Given the description of an element on the screen output the (x, y) to click on. 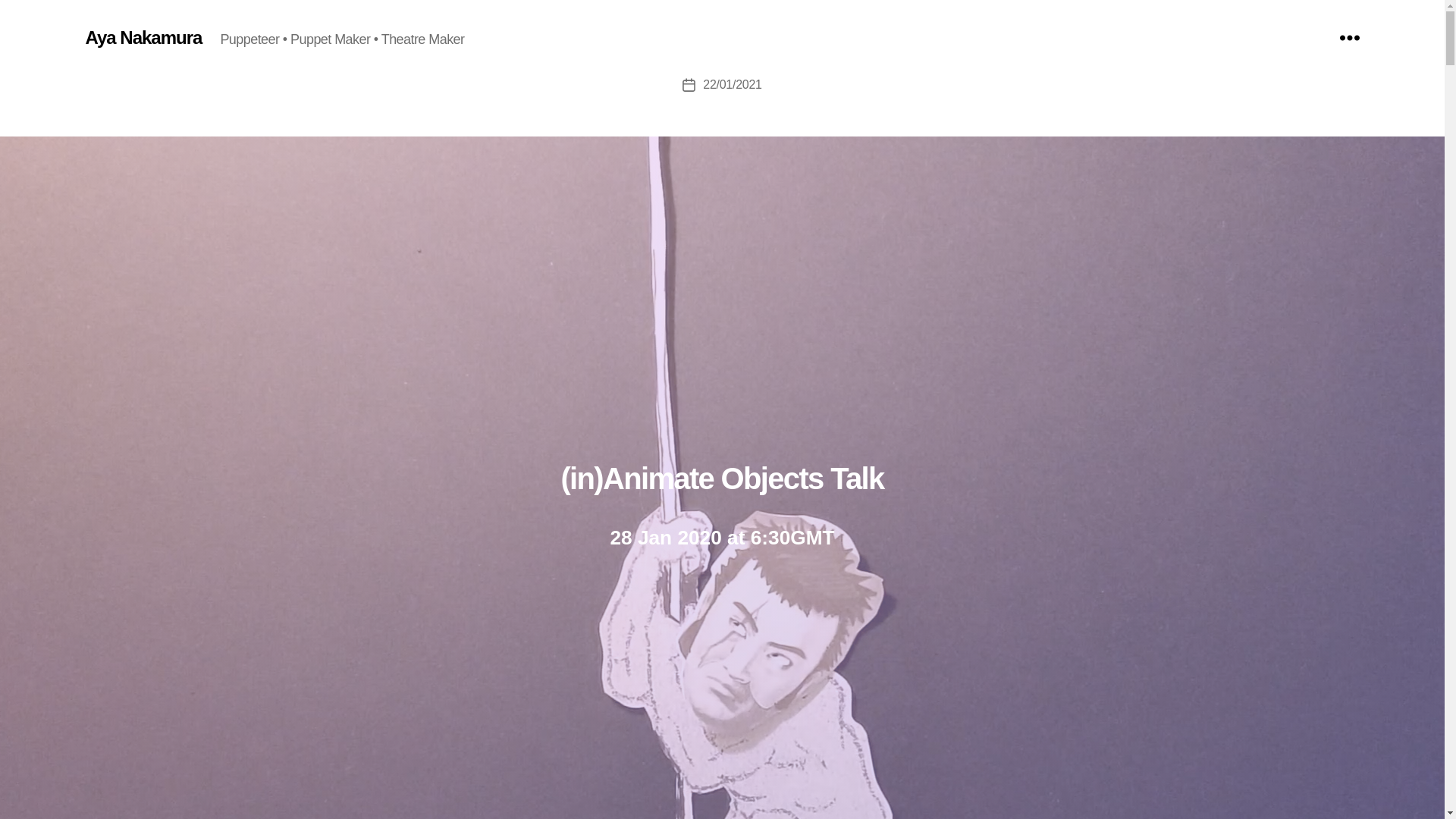
Aya Nakamura (143, 37)
